Given the description of an element on the screen output the (x, y) to click on. 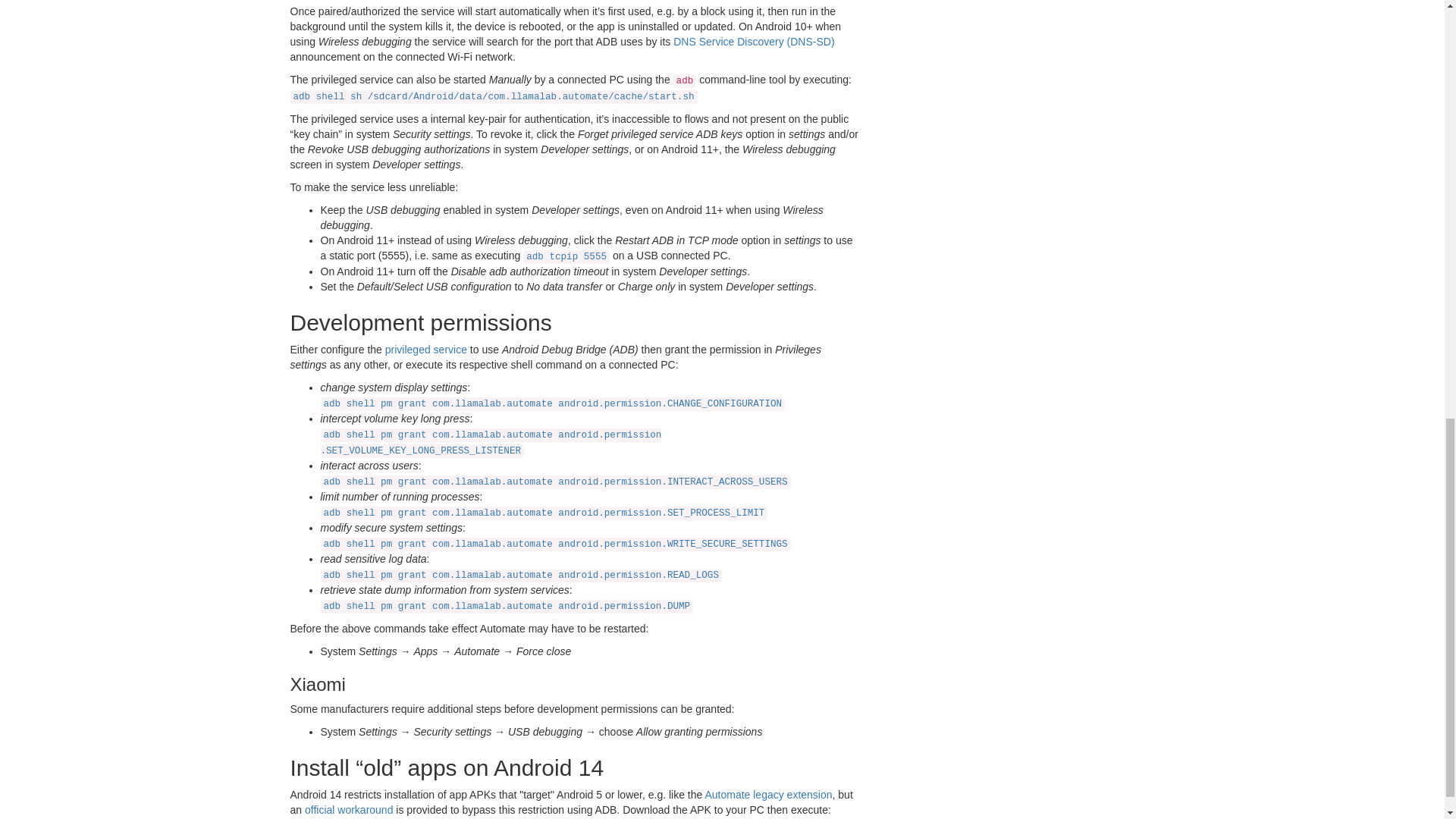
Automate legacy extension (767, 794)
privileged service (426, 349)
official workaround (348, 809)
adb tcpip 5555 (566, 256)
